Given the description of an element on the screen output the (x, y) to click on. 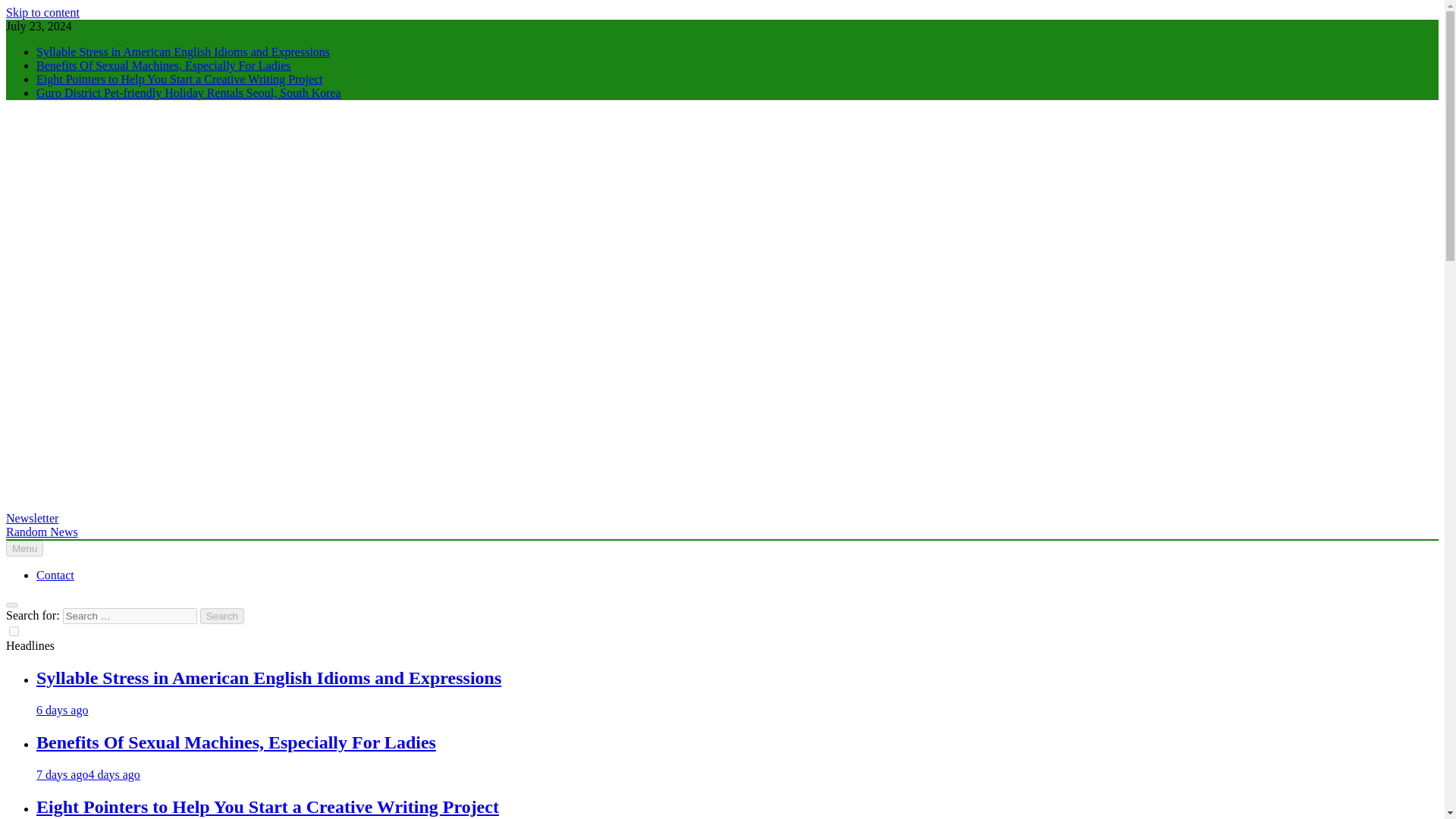
Eight Pointers to Help You Start a Creative Writing Project (179, 78)
7 days ago4 days ago (87, 774)
Benefits Of Sexual Machines, Especially For Ladies (235, 742)
Syllable Stress in American English Idioms and Expressions (183, 51)
Menu (24, 548)
Benefits Of Sexual Machines, Especially For Ladies (235, 742)
on (13, 631)
Search (222, 616)
Syllable Stress in American English Idioms and Expressions (268, 677)
Newsletter (31, 517)
Skip to content (42, 11)
Eight Pointers to Help You Start a Creative Writing Project (267, 806)
Syllable Stress in American English Idioms and Expressions (268, 677)
